Given the description of an element on the screen output the (x, y) to click on. 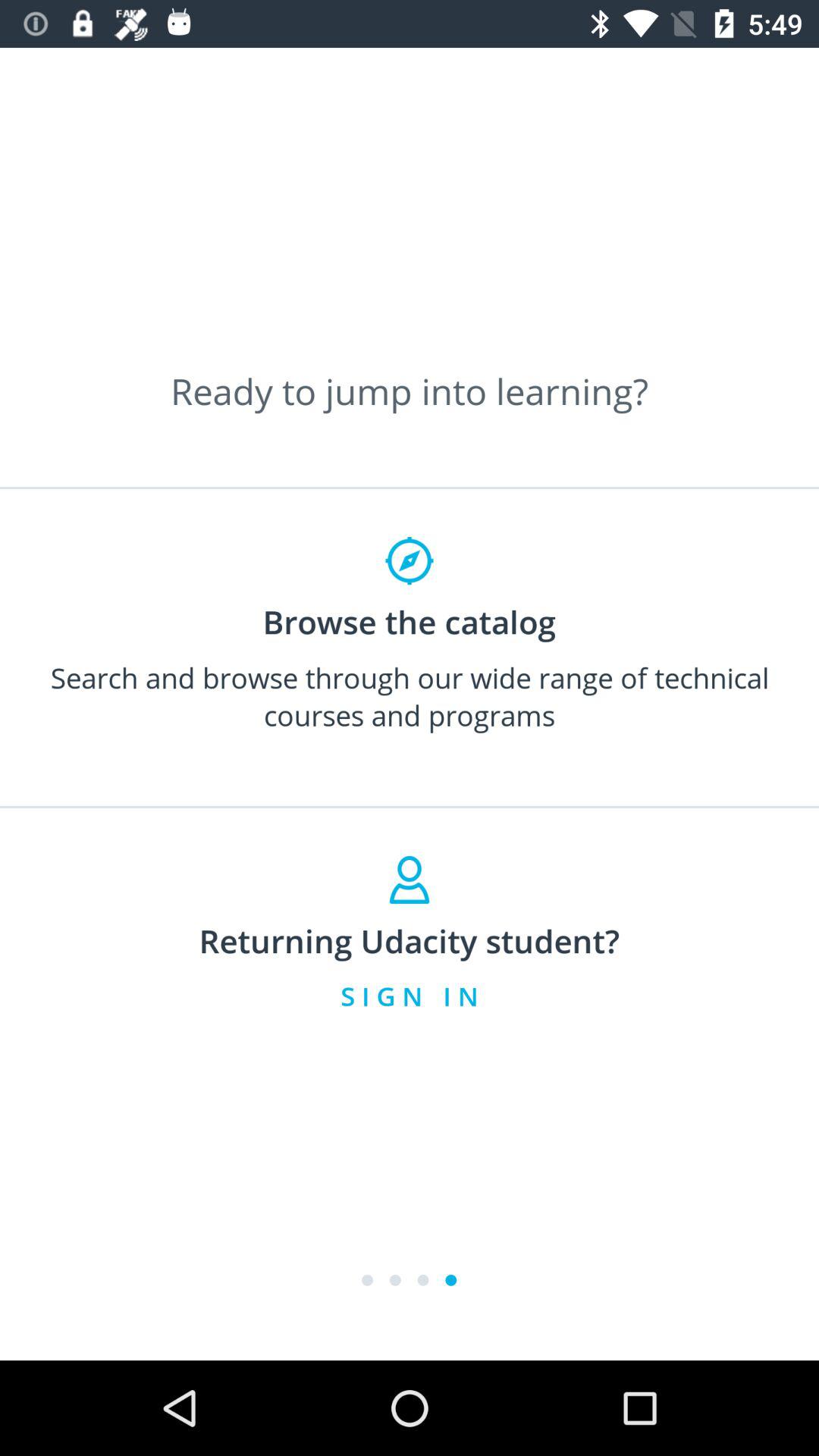
swipe until sign in (409, 995)
